Given the description of an element on the screen output the (x, y) to click on. 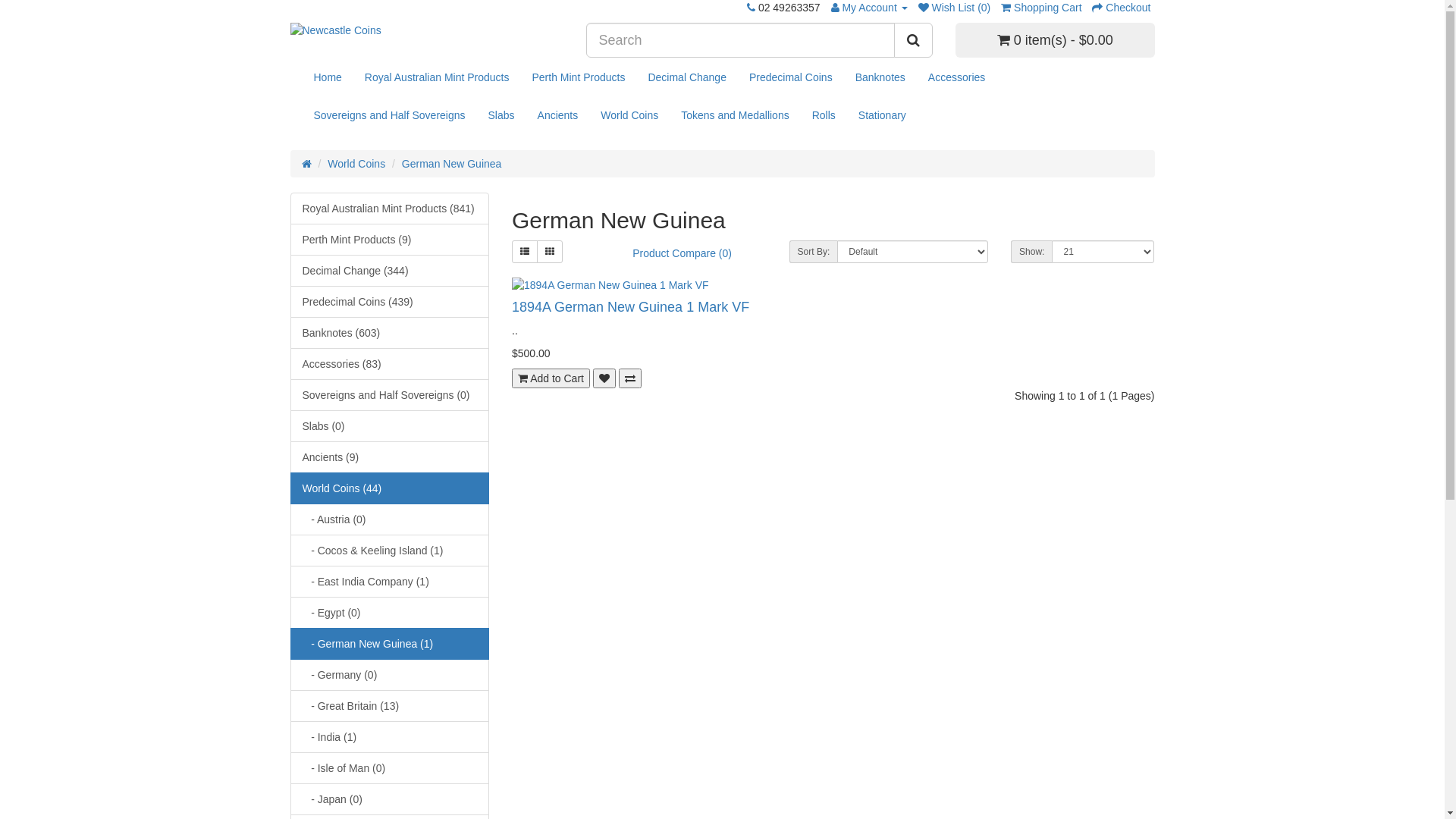
Home Element type: text (326, 77)
Ancients Element type: text (557, 115)
   - India (1) Element type: text (389, 737)
Shopping Cart Element type: text (1041, 7)
Accessories (83) Element type: text (389, 363)
Stationary Element type: text (882, 115)
List Element type: hover (524, 251)
Predecimal Coins (439) Element type: text (389, 301)
1894A German New Guinea 1 Mark VF Element type: hover (832, 284)
Ancients (9) Element type: text (389, 457)
World Coins Element type: text (629, 115)
   - Isle of Man (0) Element type: text (389, 768)
Newcastle Coins Element type: hover (425, 29)
Wish List (0) Element type: text (954, 7)
Royal Australian Mint Products Element type: text (436, 77)
World Coins (44) Element type: text (389, 488)
Perth Mint Products Element type: text (578, 77)
Perth Mint Products (9) Element type: text (389, 239)
   - Germany (0) Element type: text (389, 674)
   - Japan (0) Element type: text (389, 799)
   - East India Company (1) Element type: text (389, 581)
Royal Australian Mint Products (841) Element type: text (389, 208)
Grid Element type: hover (549, 251)
Banknotes (603) Element type: text (389, 332)
Decimal Change (344) Element type: text (389, 270)
Add to Wish List Element type: hover (604, 378)
1894A German New Guinea 1 Mark VF Element type: text (630, 306)
Sovereigns and Half Sovereigns (0) Element type: text (389, 395)
   - Cocos & Keeling Island (1) Element type: text (389, 550)
My Account Element type: text (869, 7)
   - Egypt (0) Element type: text (389, 612)
0 item(s) - $0.00 Element type: text (1054, 39)
   - Austria (0) Element type: text (389, 519)
   - German New Guinea (1) Element type: text (389, 643)
German New Guinea Element type: text (451, 163)
Decimal Change Element type: text (686, 77)
Predecimal Coins Element type: text (790, 77)
Add to Cart Element type: text (550, 378)
Sovereigns and Half Sovereigns Element type: text (388, 115)
Rolls Element type: text (823, 115)
Slabs Element type: text (501, 115)
Compare this Product Element type: hover (629, 378)
Accessories Element type: text (956, 77)
Product Compare (0) Element type: text (681, 253)
Banknotes Element type: text (880, 77)
   - Great Britain (13) Element type: text (389, 705)
Tokens and Medallions Element type: text (734, 115)
Checkout Element type: text (1121, 7)
Slabs (0) Element type: text (389, 426)
World Coins Element type: text (356, 163)
